Given the description of an element on the screen output the (x, y) to click on. 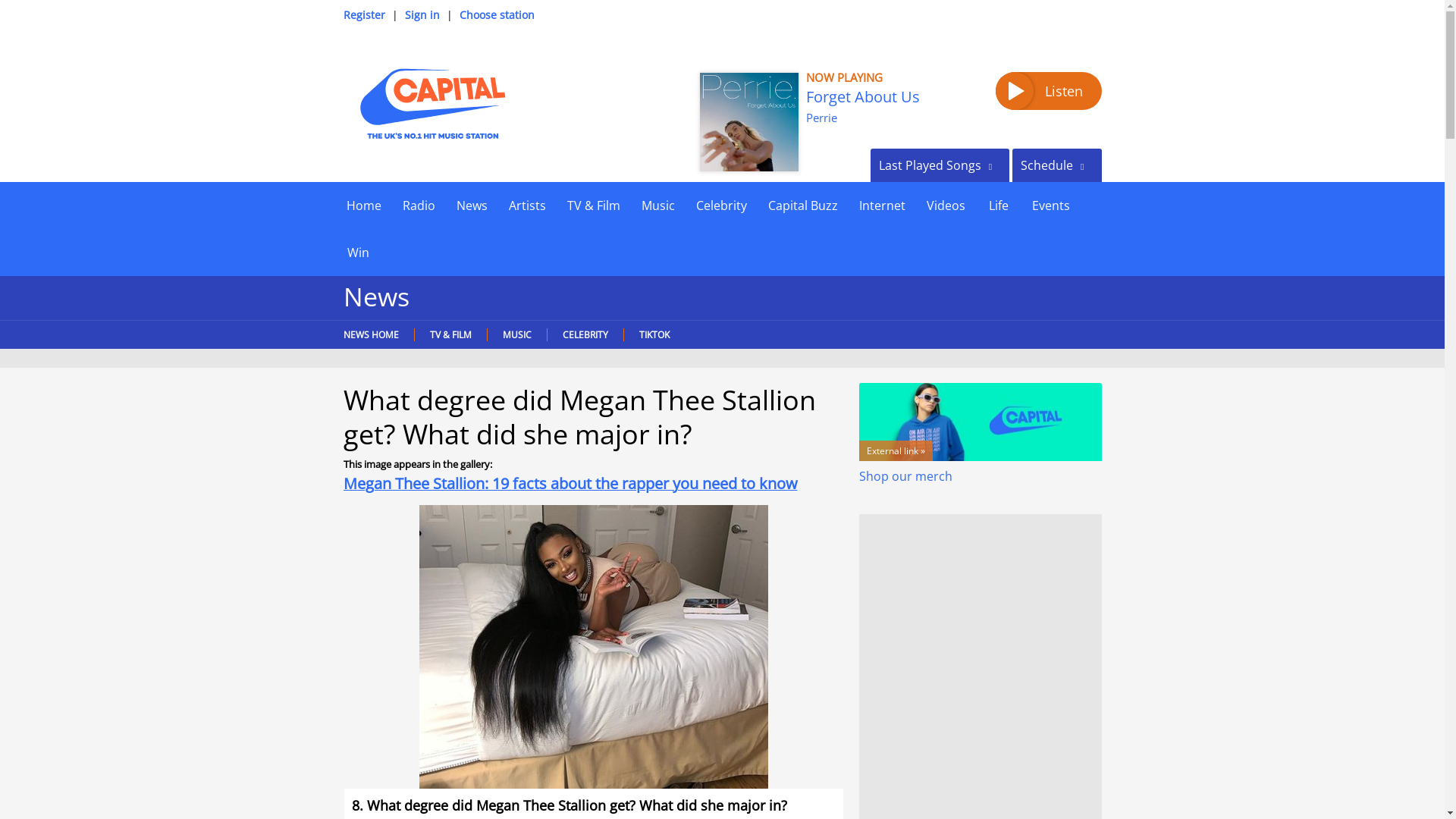
Celebrity (721, 205)
Home (362, 205)
Events (1050, 205)
Videos (945, 205)
News (471, 205)
Artists (526, 205)
Radio (418, 205)
Win (357, 252)
TIKTOK (653, 334)
NEWS HOME (373, 334)
Schedule (1055, 164)
Capital (431, 103)
MUSIC (516, 334)
CELEBRITY (584, 334)
